Given the description of an element on the screen output the (x, y) to click on. 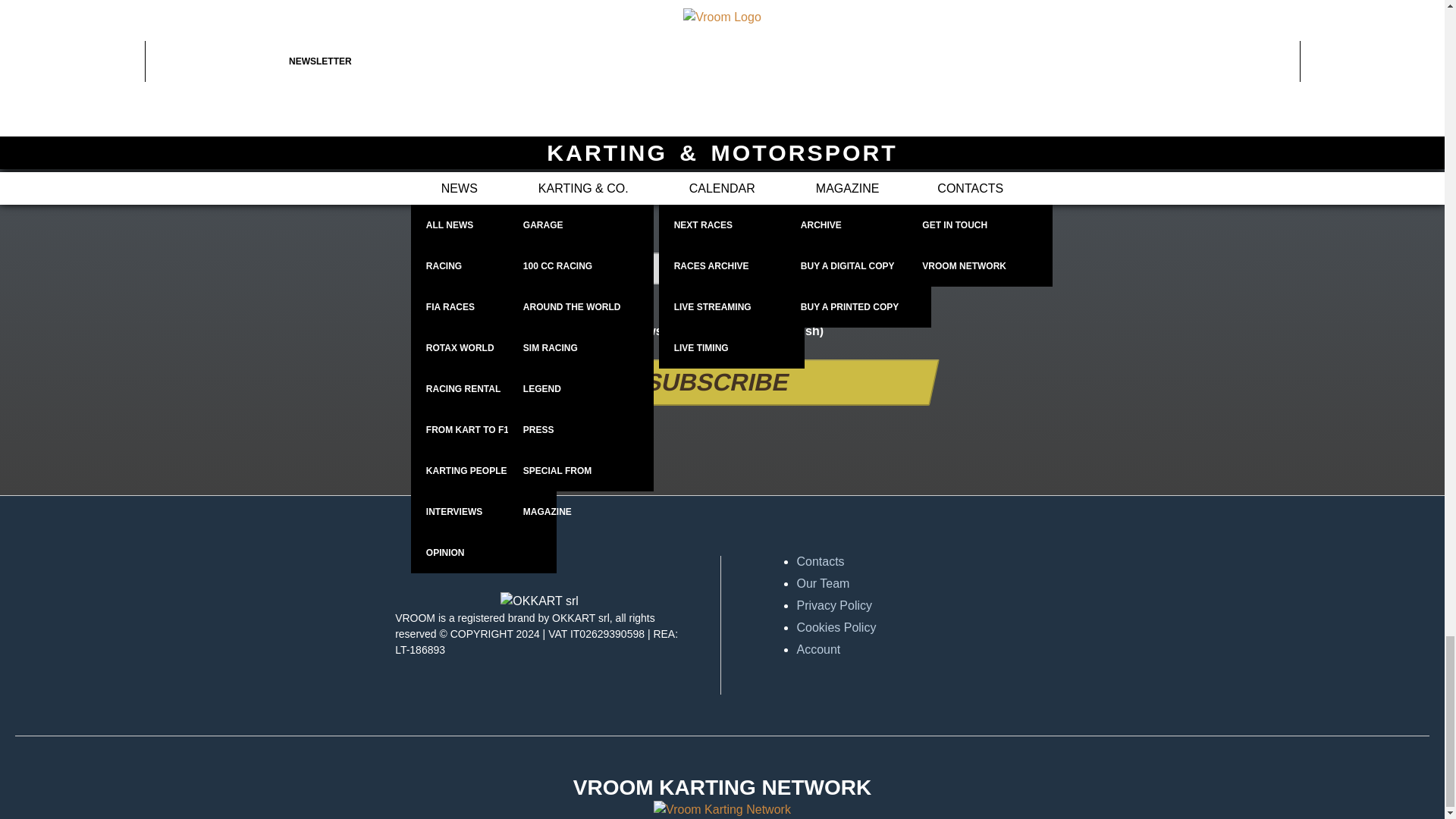
Subscribe (713, 382)
Contacts (940, 561)
Cookies Policy (940, 628)
Privacy Policy (940, 606)
2 (622, 329)
Our Team (940, 583)
Account (940, 649)
